Given the description of an element on the screen output the (x, y) to click on. 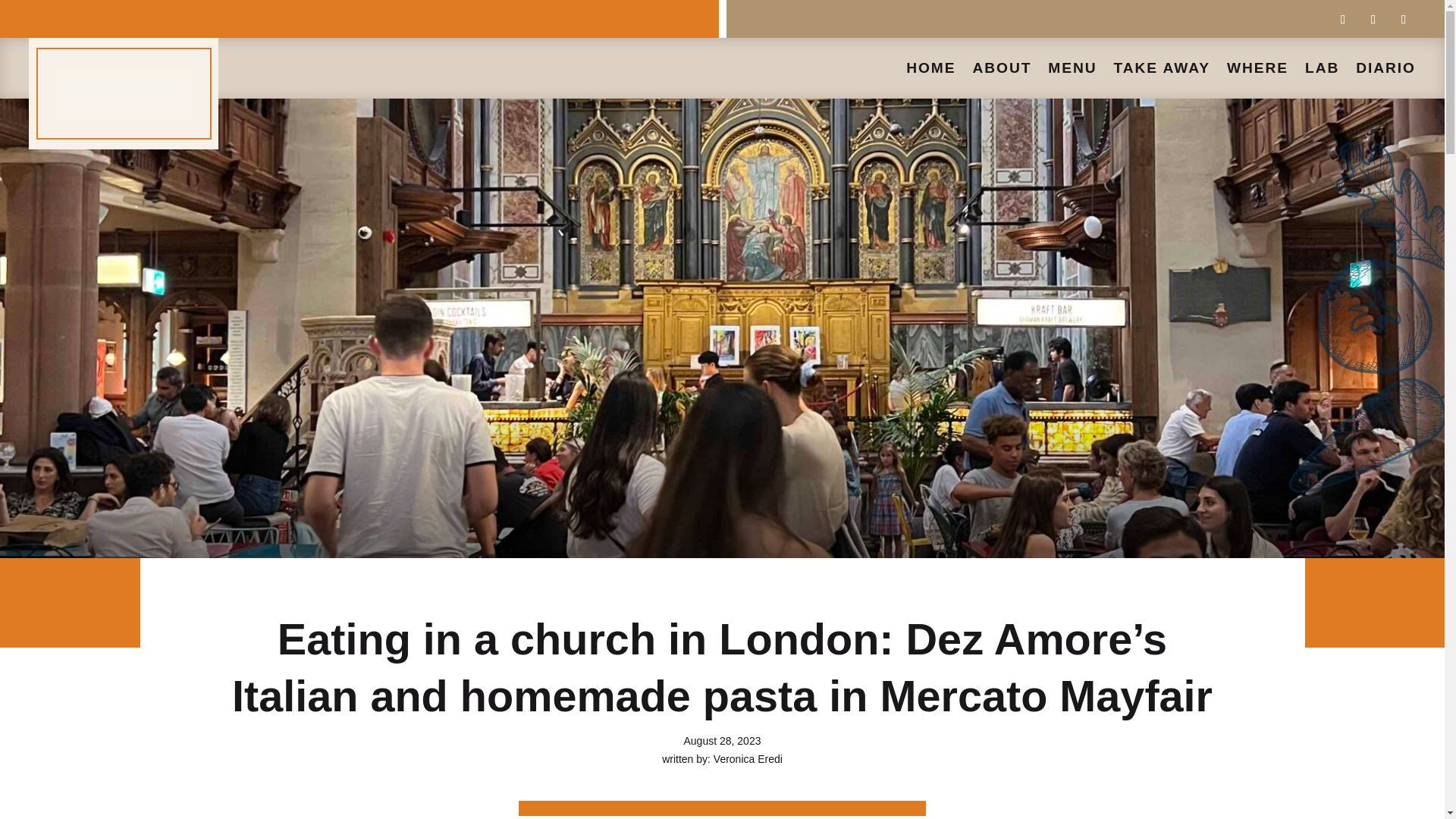
TAKE AWAY (1161, 71)
WHERE (1257, 71)
HOME (930, 71)
MENU (1072, 71)
Follow on Facebook (1342, 19)
LAB (1321, 71)
logo (123, 93)
ABOUT (1001, 71)
Follow on Instagram (1373, 19)
Follow on TikTok (1403, 19)
DIARIO (1385, 71)
